Given the description of an element on the screen output the (x, y) to click on. 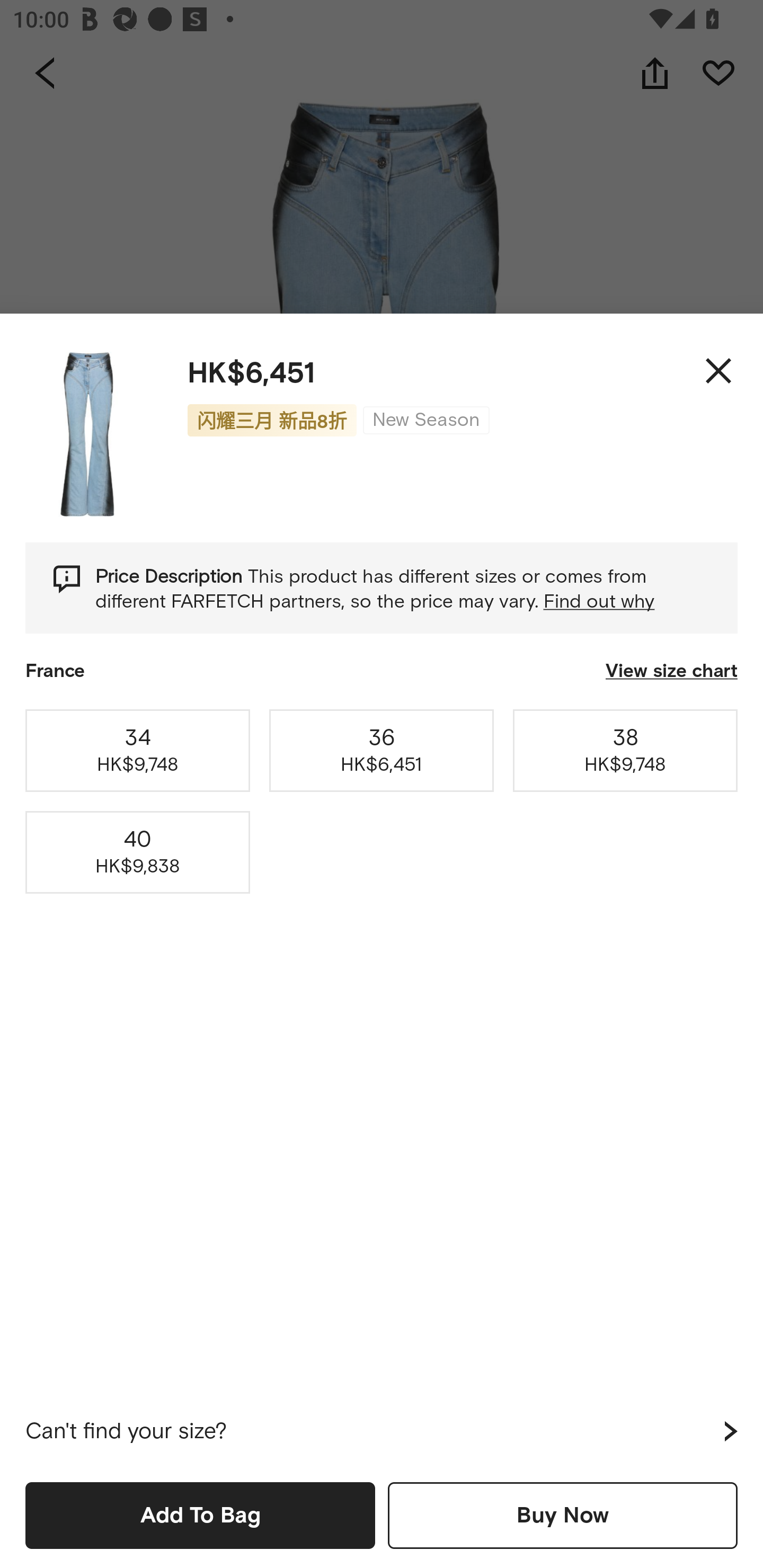
闪耀三月 新品8折 (271, 419)
34 HK$9,748 (137, 749)
36 HK$6,451 (381, 749)
38 HK$9,748 (624, 749)
40 HK$9,838 (137, 851)
Can't find your size? (381, 1431)
Add To Bag (200, 1515)
Buy Now (562, 1515)
